Given the description of an element on the screen output the (x, y) to click on. 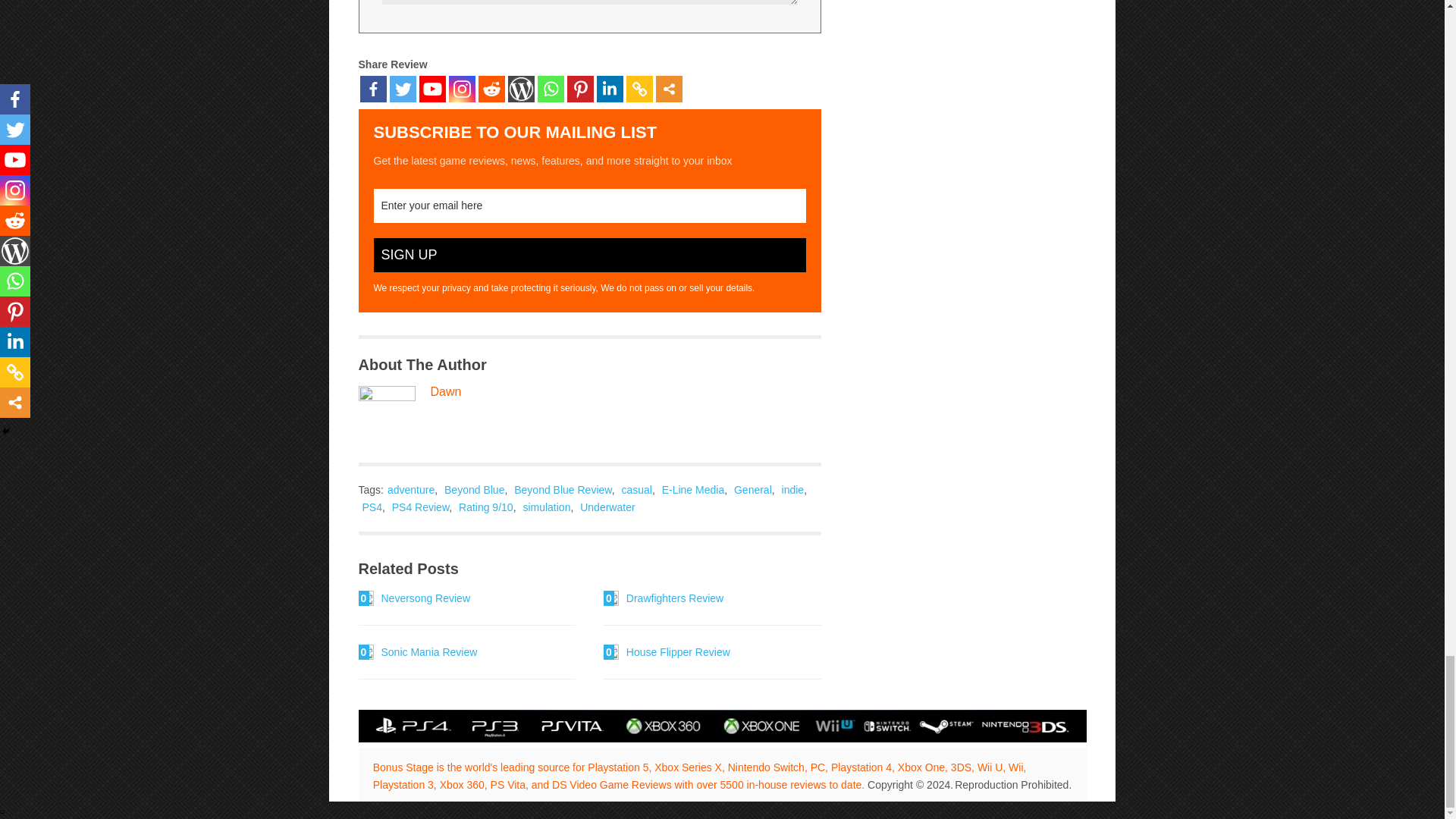
Sign Up (588, 254)
